Given the description of an element on the screen output the (x, y) to click on. 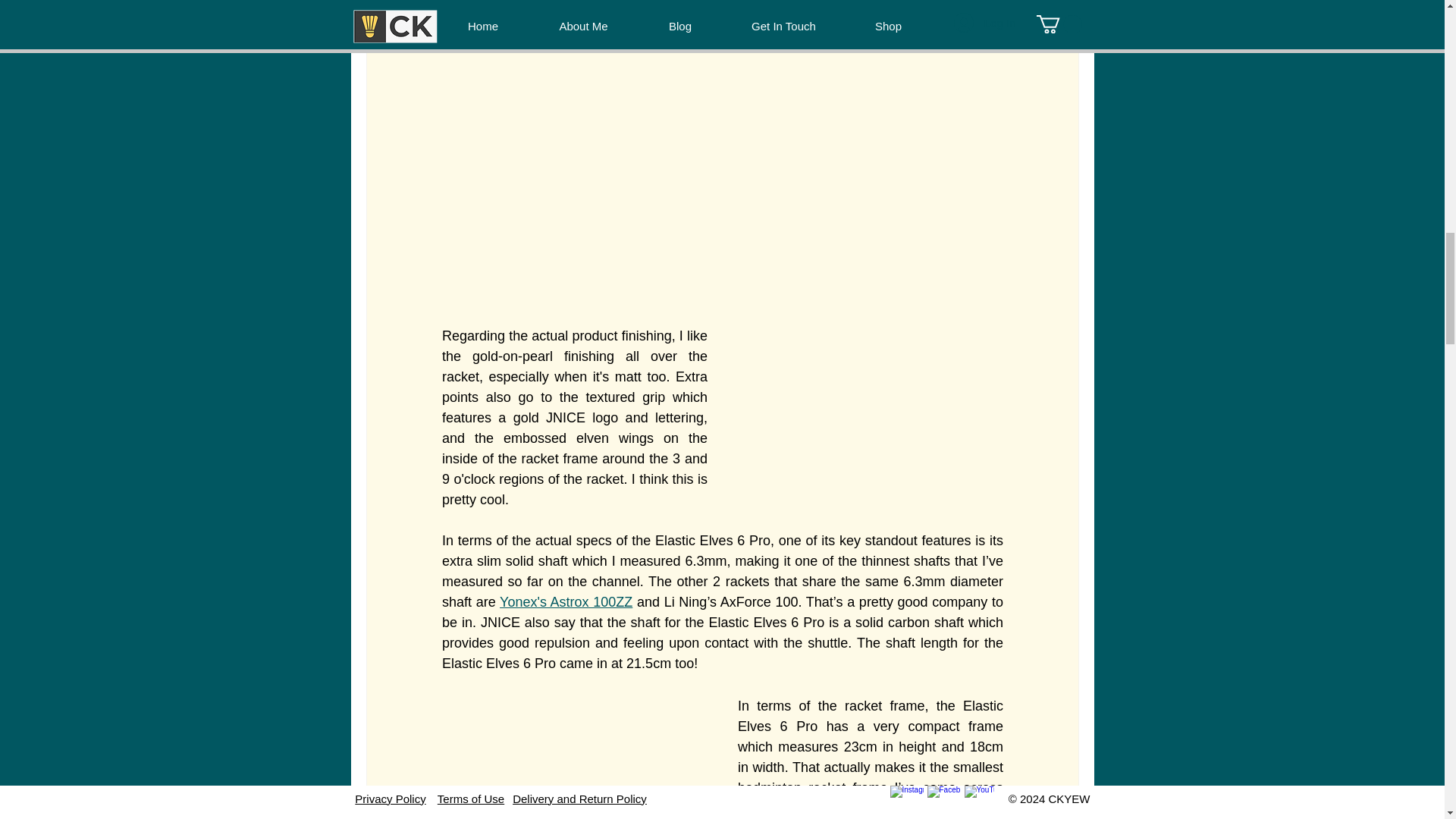
Yonex's Astrox 100ZZ (565, 601)
